Given the description of an element on the screen output the (x, y) to click on. 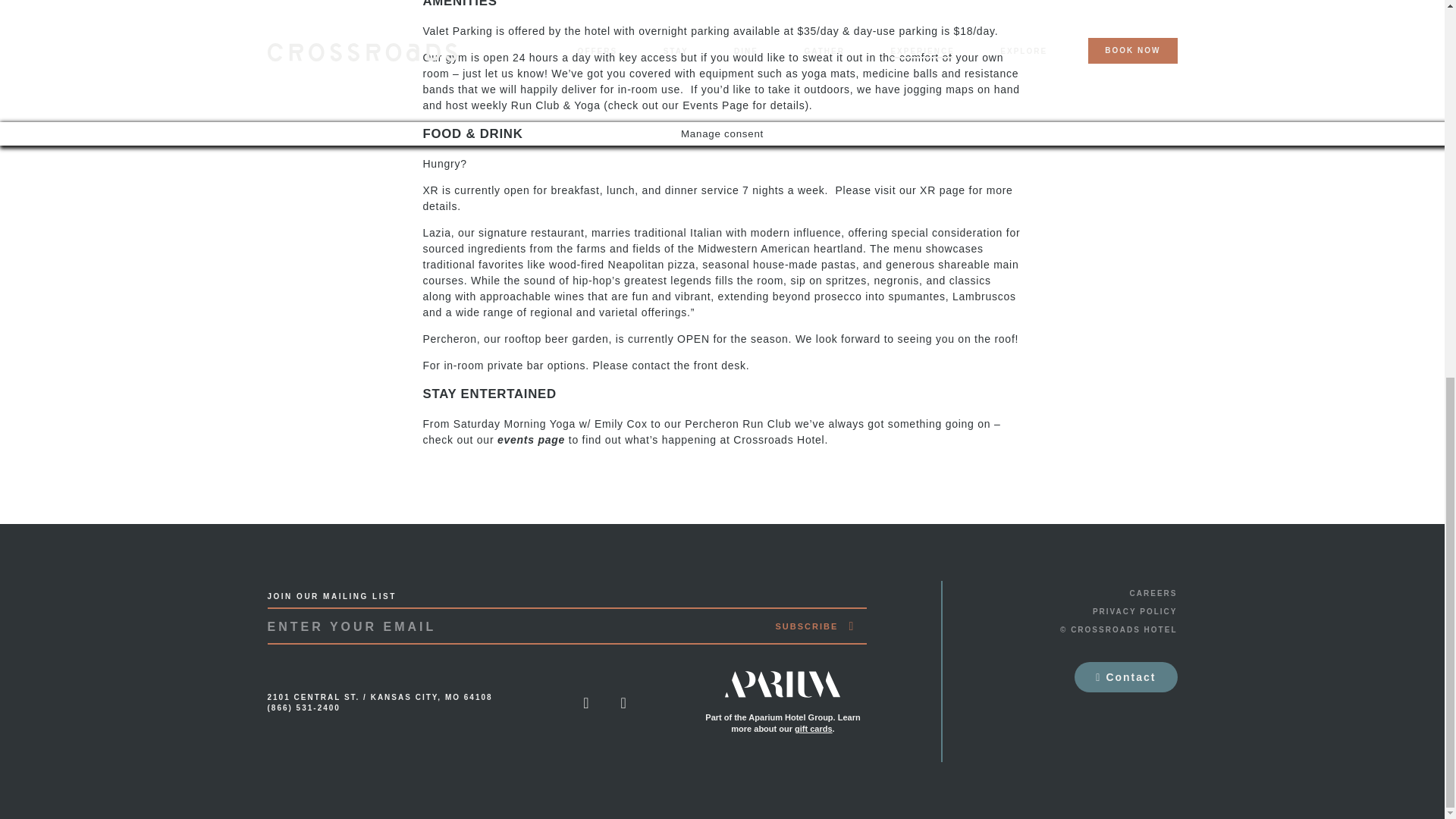
Lazia (437, 232)
Percheron (450, 338)
XR (928, 190)
XR (431, 190)
Events Page (715, 105)
